Given the description of an element on the screen output the (x, y) to click on. 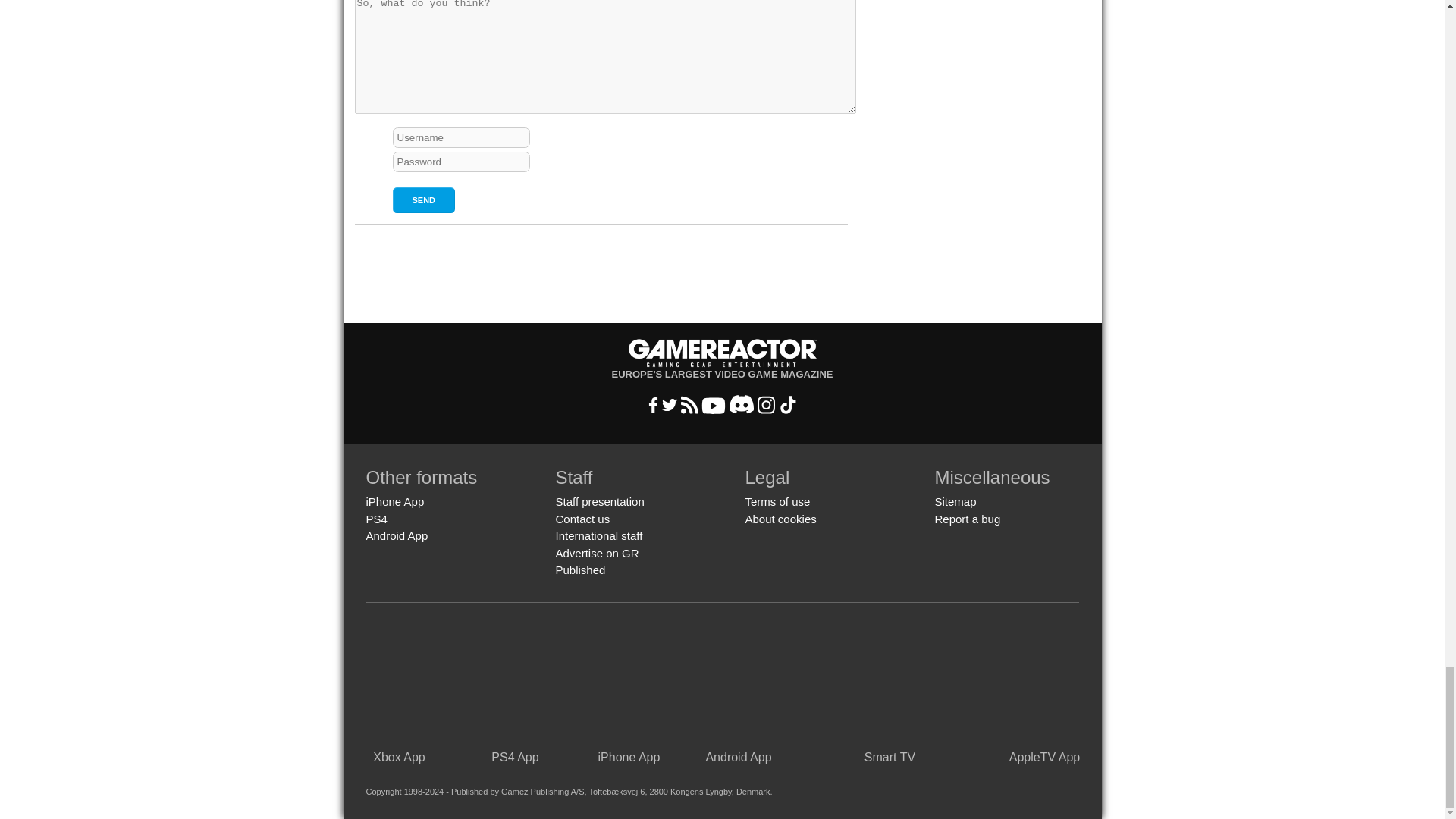
Send (424, 199)
